Given the description of an element on the screen output the (x, y) to click on. 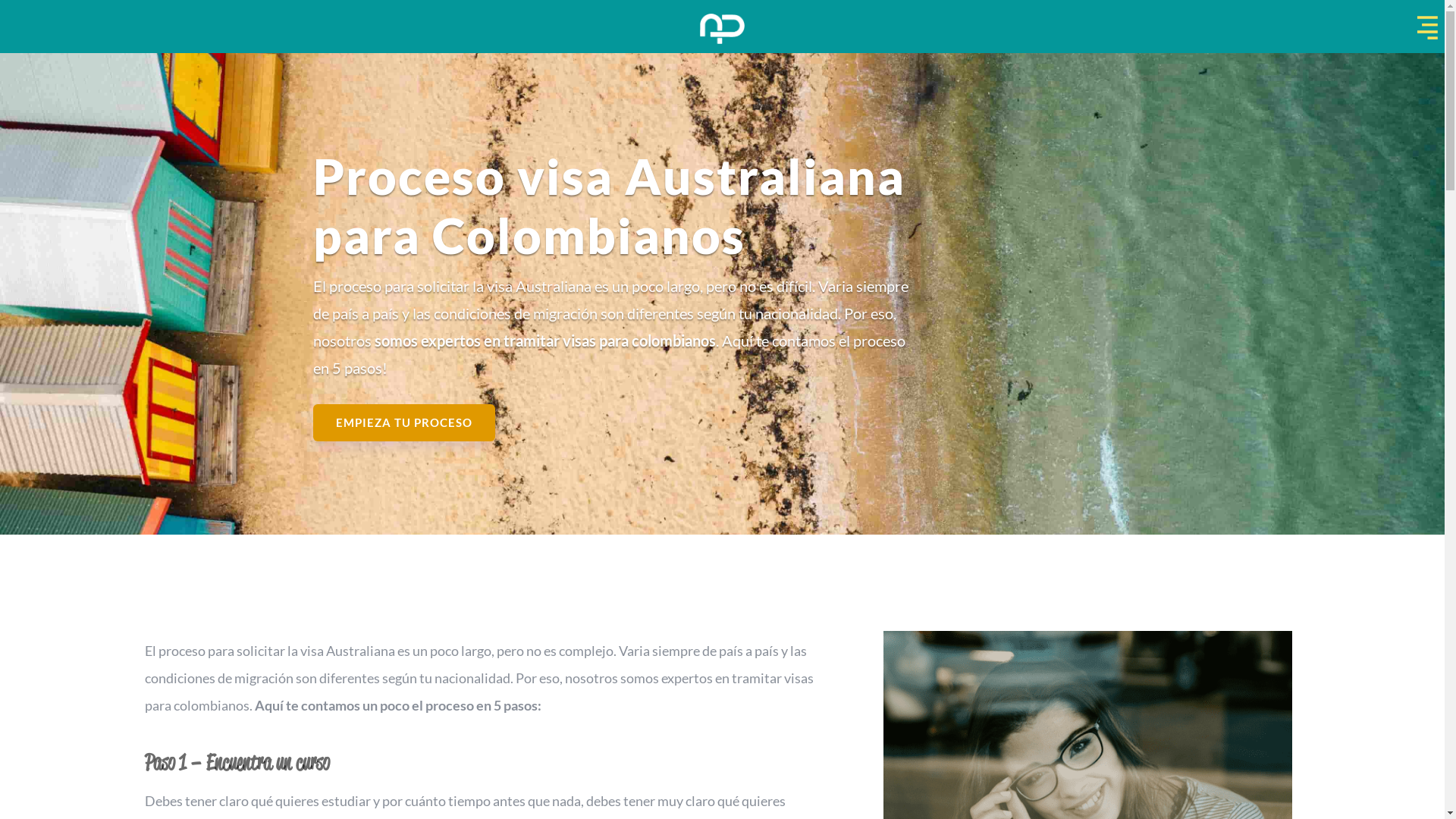
EMPIEZA TU PROCESO Element type: text (403, 423)
Encuentra un curso Element type: text (267, 762)
